Given the description of an element on the screen output the (x, y) to click on. 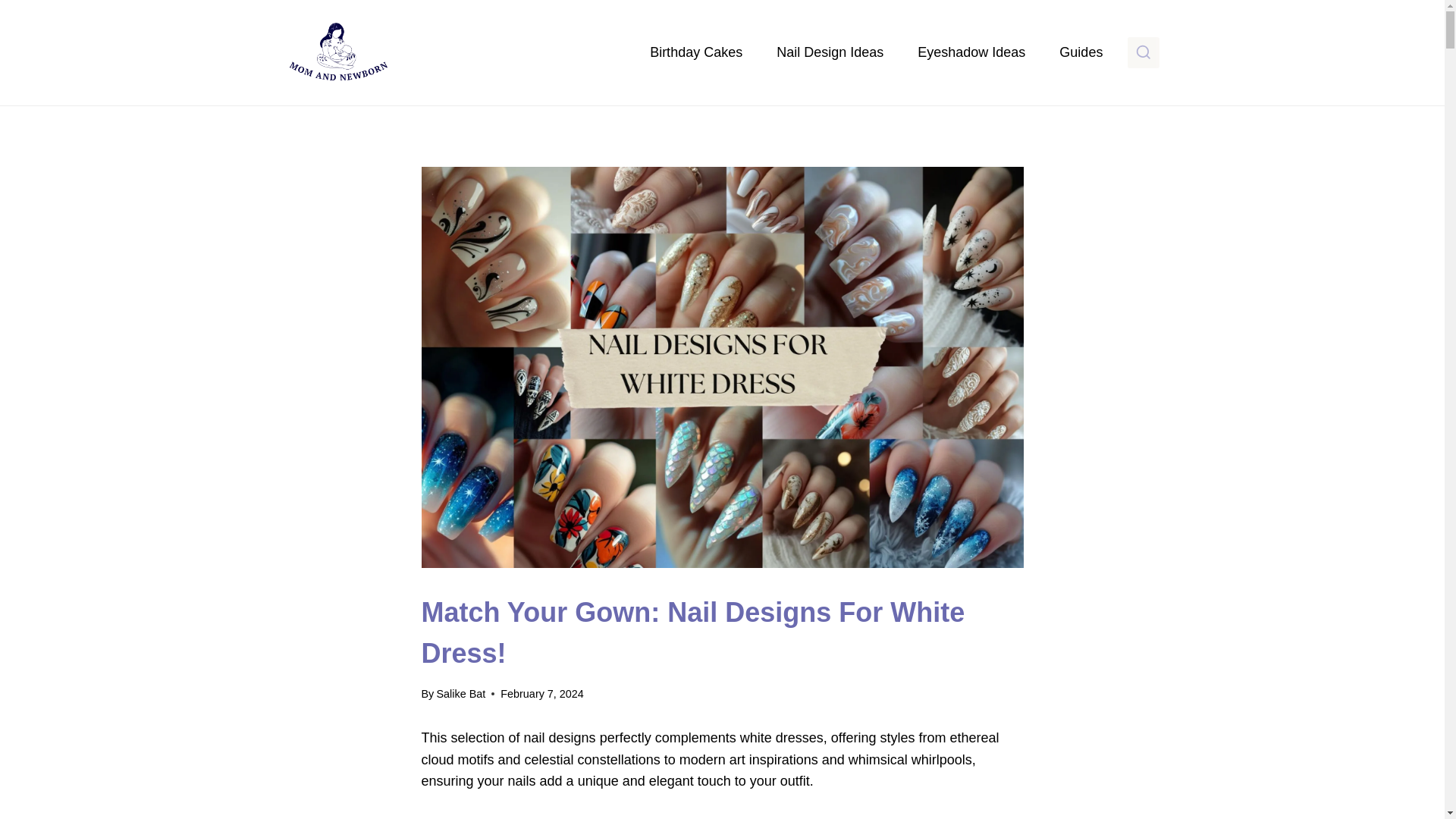
Birthday Cakes (696, 51)
Nail Design Ideas (830, 51)
Guides (1080, 51)
Eyeshadow Ideas (971, 51)
Salike Bat (459, 693)
